Given the description of an element on the screen output the (x, y) to click on. 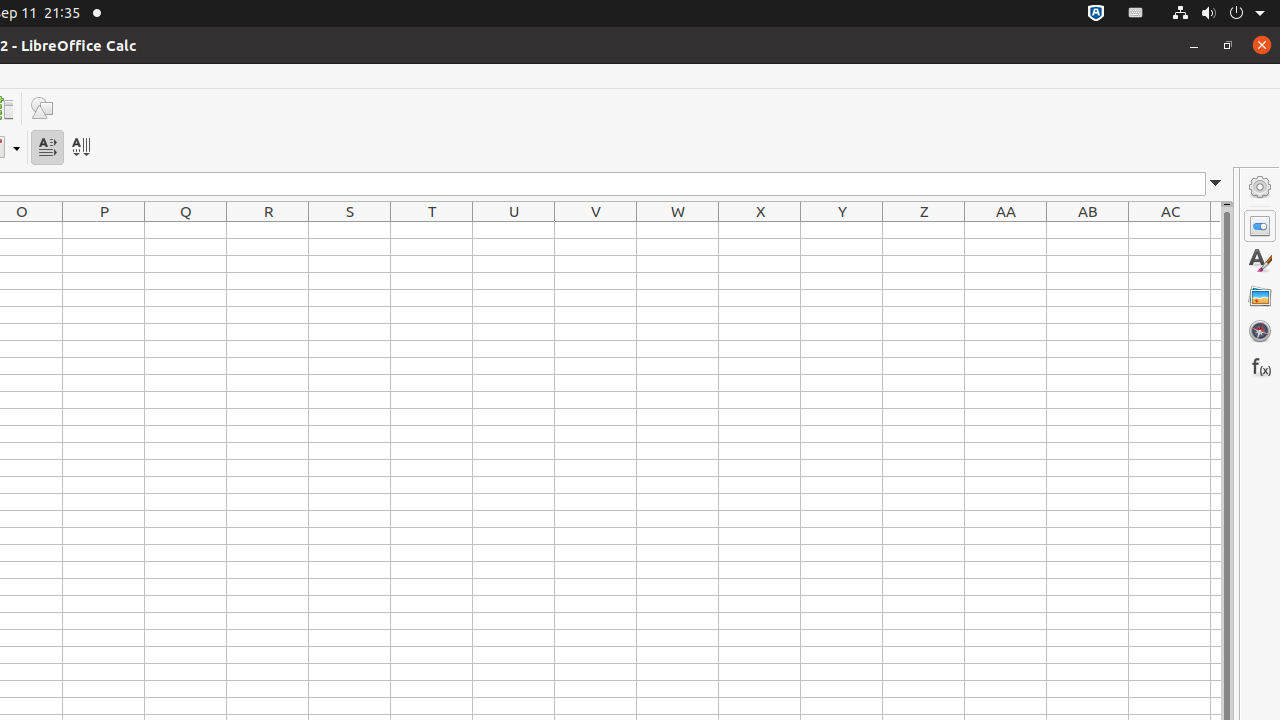
Text direction from top to bottom Element type: toggle-button (80, 147)
X1 Element type: table-cell (760, 230)
S1 Element type: table-cell (350, 230)
Q1 Element type: table-cell (186, 230)
